Given the description of an element on the screen output the (x, y) to click on. 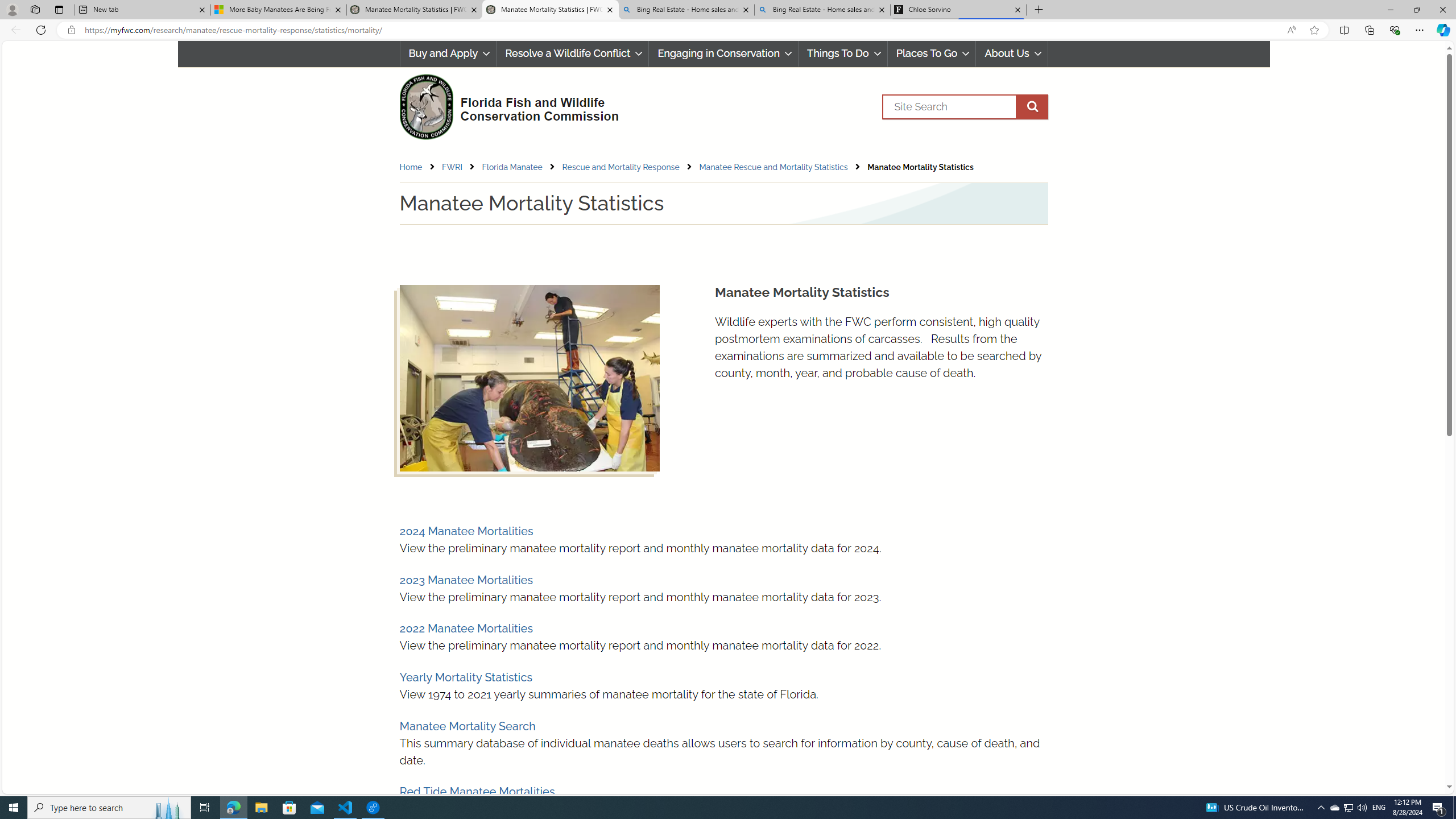
Home (418, 166)
Manatee Mortality Statistics (920, 167)
Florida Manatee (520, 166)
Buy and Apply (448, 53)
Engaging in Conservation (723, 53)
FWRI (461, 166)
About Us (1011, 53)
Yearly Mortality Statistics (465, 677)
About Us (1011, 53)
execute site search (1031, 106)
Chloe Sorvino (957, 9)
